Given the description of an element on the screen output the (x, y) to click on. 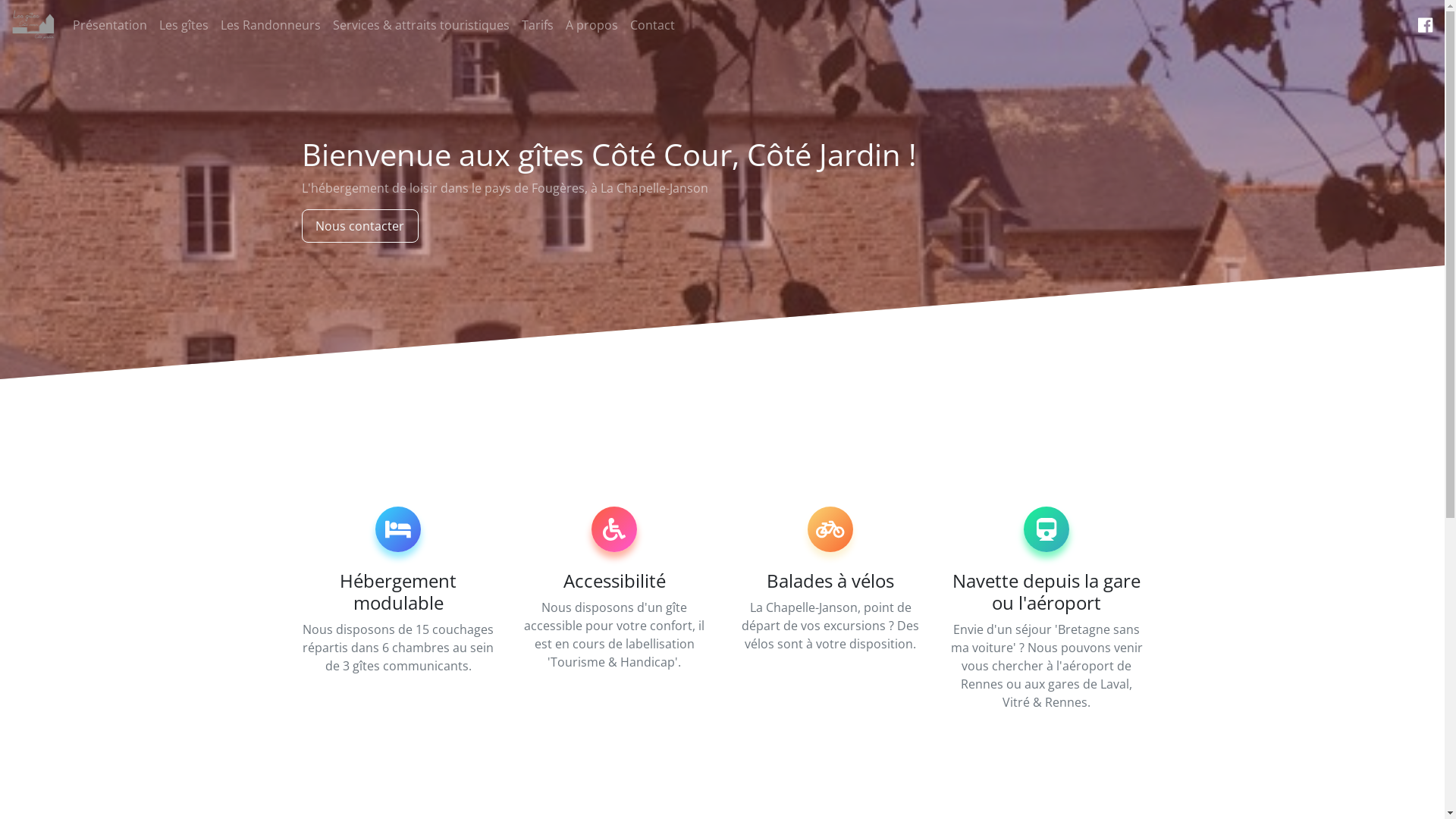
Les Randonneurs Element type: text (270, 24)
Nous contacter Element type: text (360, 225)
Contact Element type: text (652, 24)
Services & attraits touristiques Element type: text (420, 24)
A propos Element type: text (591, 24)
Tarifs Element type: text (537, 24)
